Given the description of an element on the screen output the (x, y) to click on. 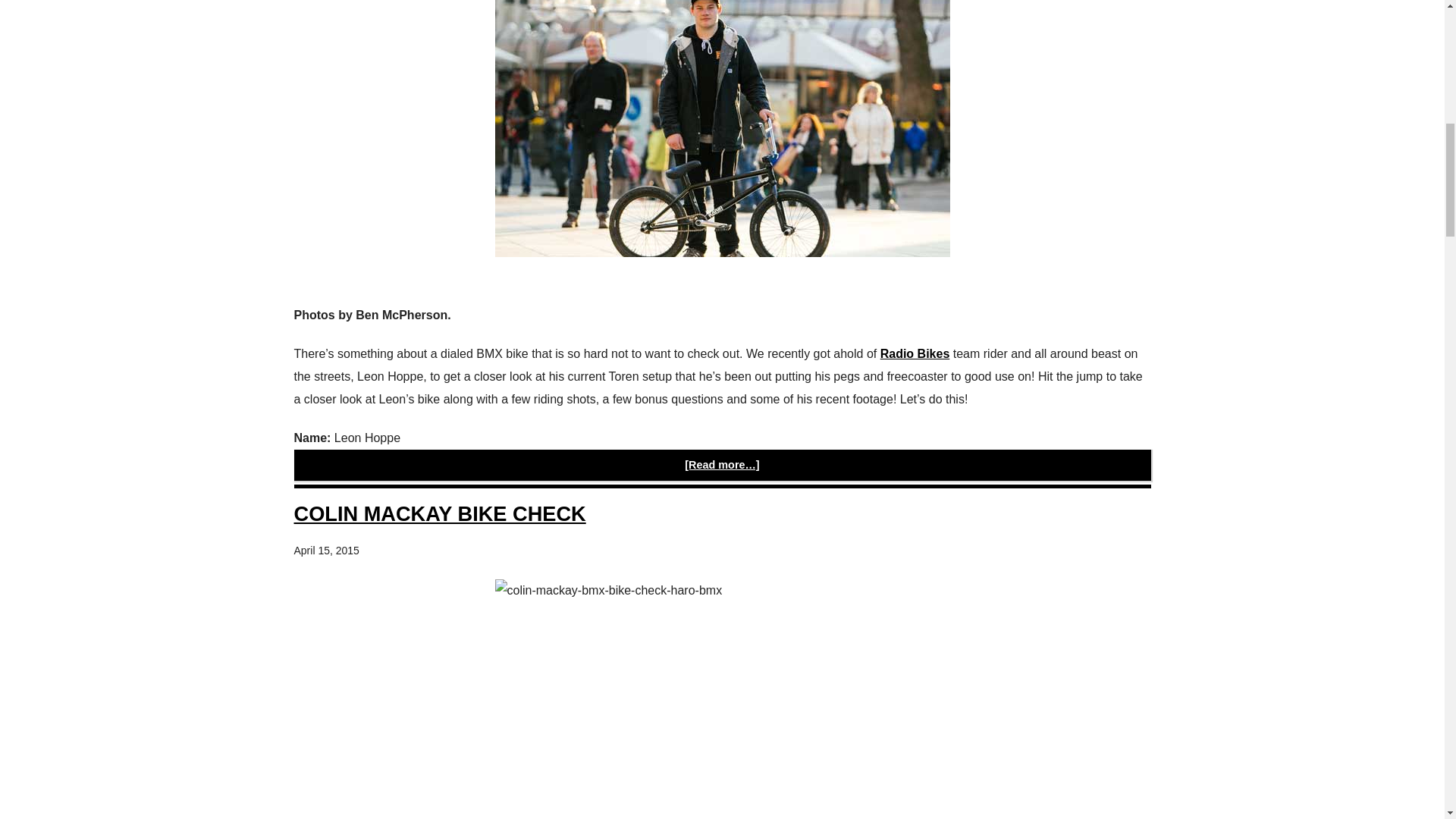
Radio Bikes (915, 353)
